Given the description of an element on the screen output the (x, y) to click on. 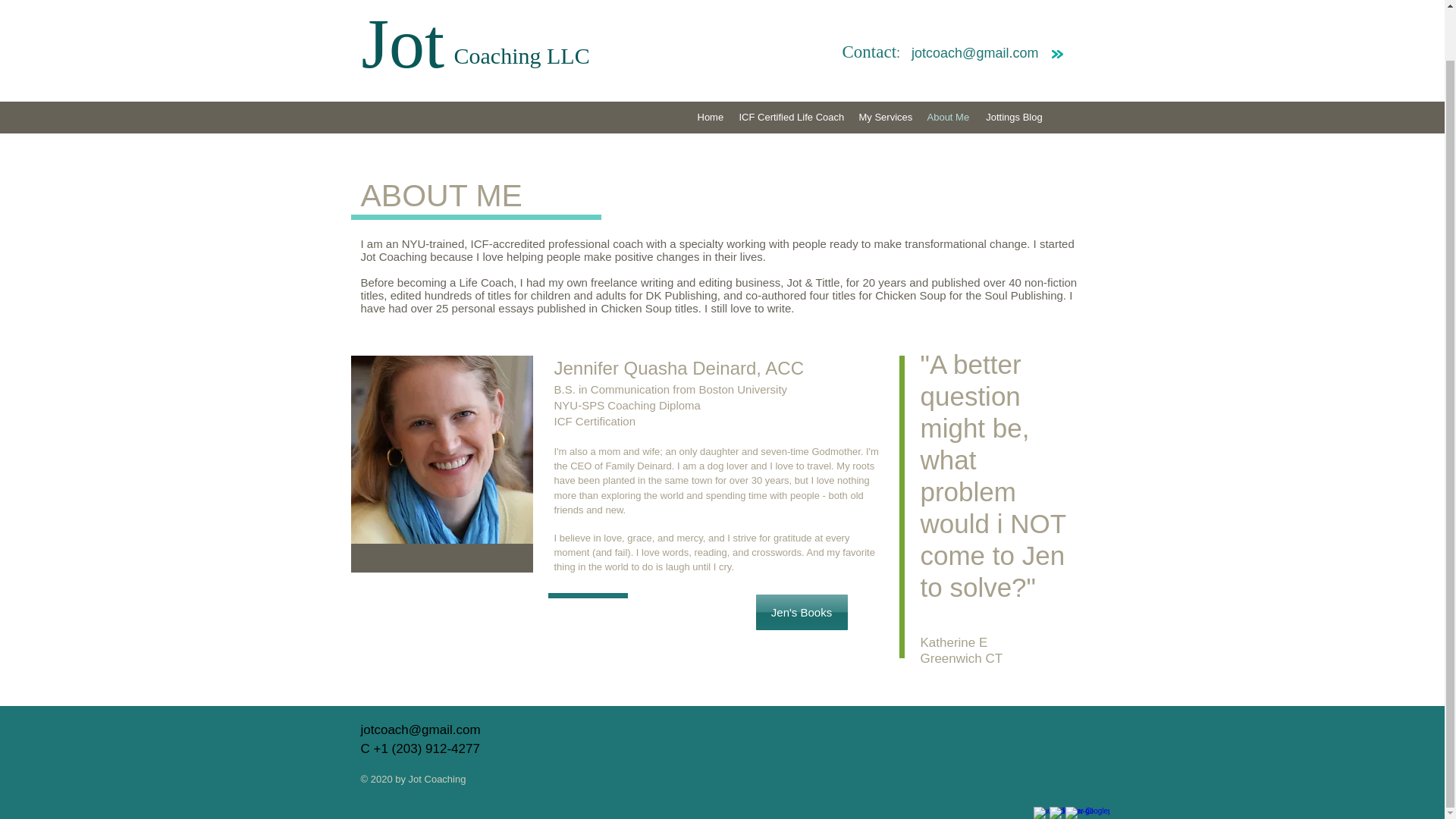
About Me (947, 116)
Jen's Books (801, 611)
Jottings Blog (1013, 116)
My Services (884, 116)
Jot     (438, 43)
ICF Certified Life Coach (790, 116)
Home (709, 116)
